Given the description of an element on the screen output the (x, y) to click on. 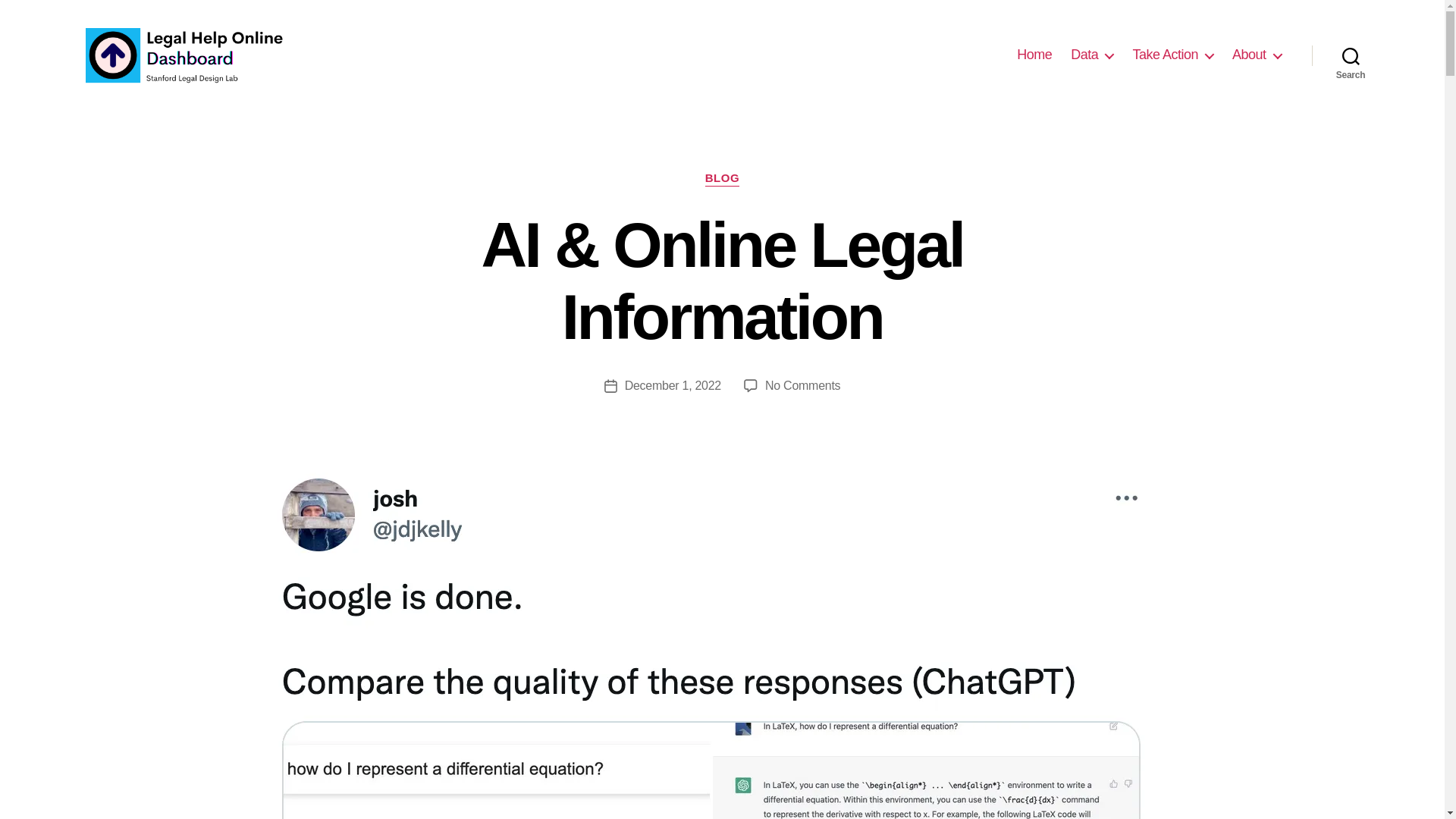
About (1256, 54)
Home (1033, 54)
Data (1091, 54)
Search (1350, 55)
Take Action (1172, 54)
